Given the description of an element on the screen output the (x, y) to click on. 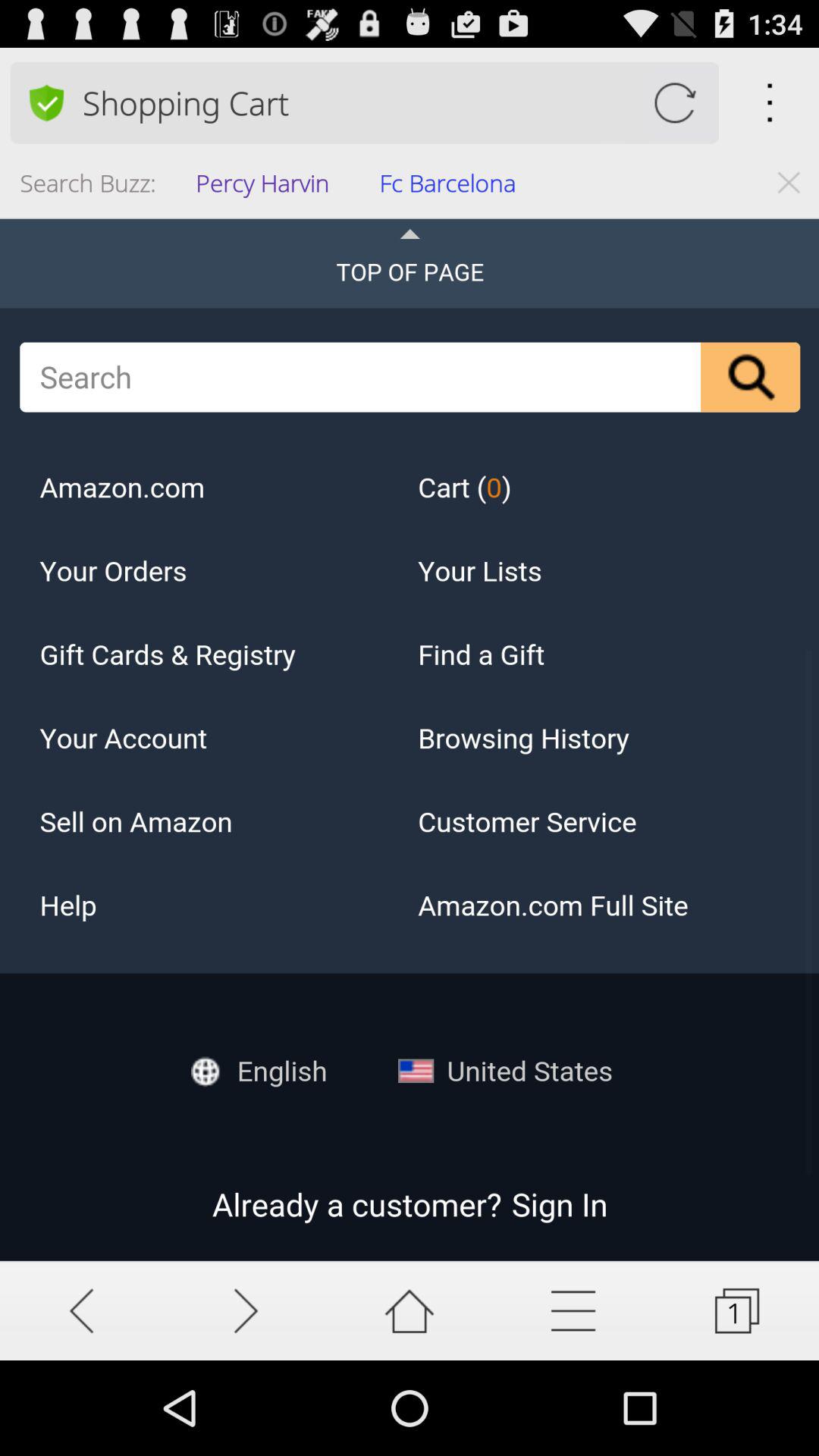
security (46, 102)
